Given the description of an element on the screen output the (x, y) to click on. 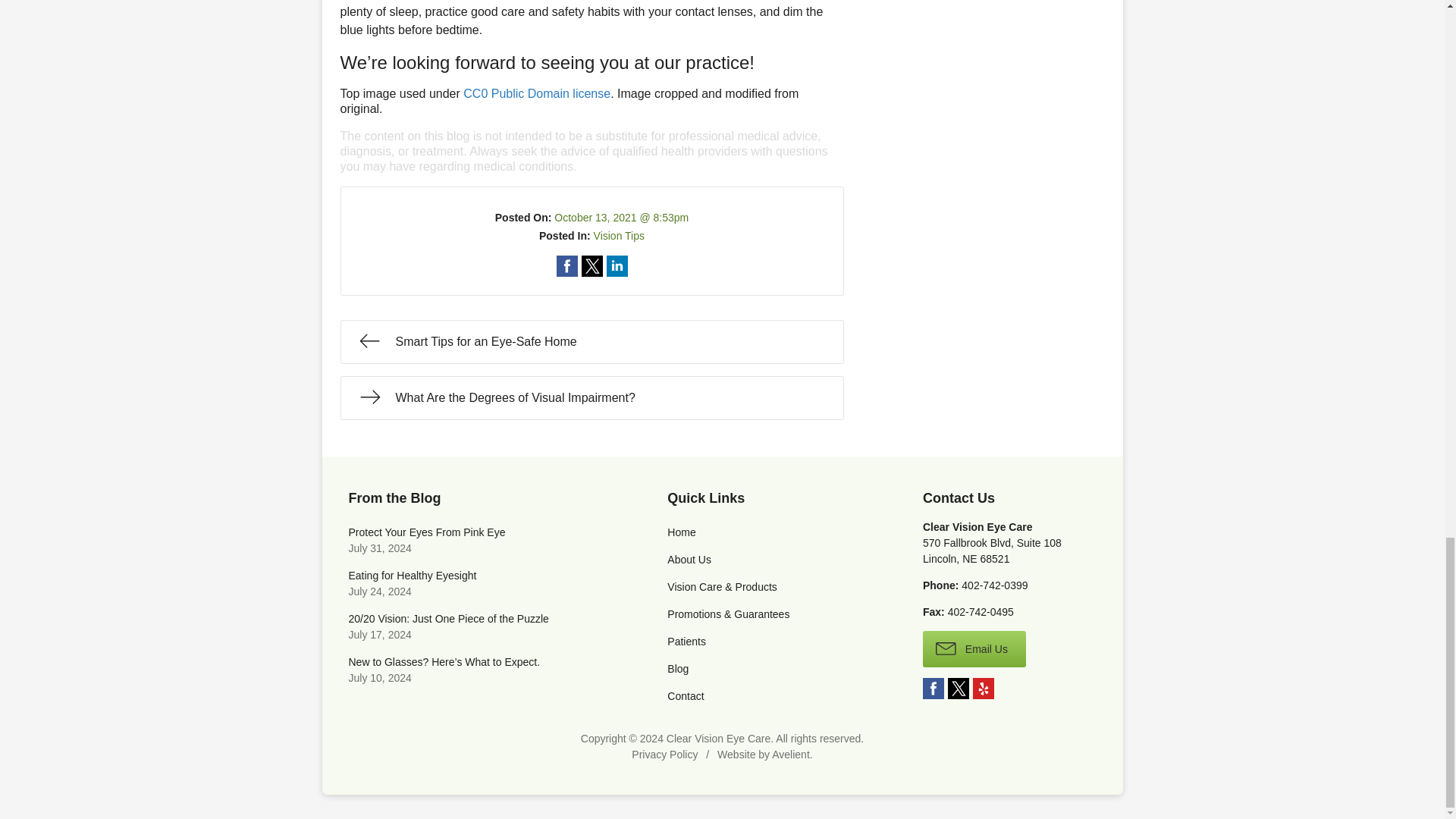
Smart Tips for an Eye-Safe Home (591, 341)
Share on Twitter (591, 265)
Vision Tips (619, 235)
Contact practice (993, 585)
Share on Facebook (567, 265)
CC0 Public Domain license (536, 92)
Go to our Twitter Account (958, 688)
Open this address in Google Maps (992, 551)
Share on Twitter (591, 265)
Share on LinkedIn (617, 265)
Share on Facebook (567, 265)
Share on LinkedIn (617, 265)
Go to our Facebook Page (933, 688)
